Given the description of an element on the screen output the (x, y) to click on. 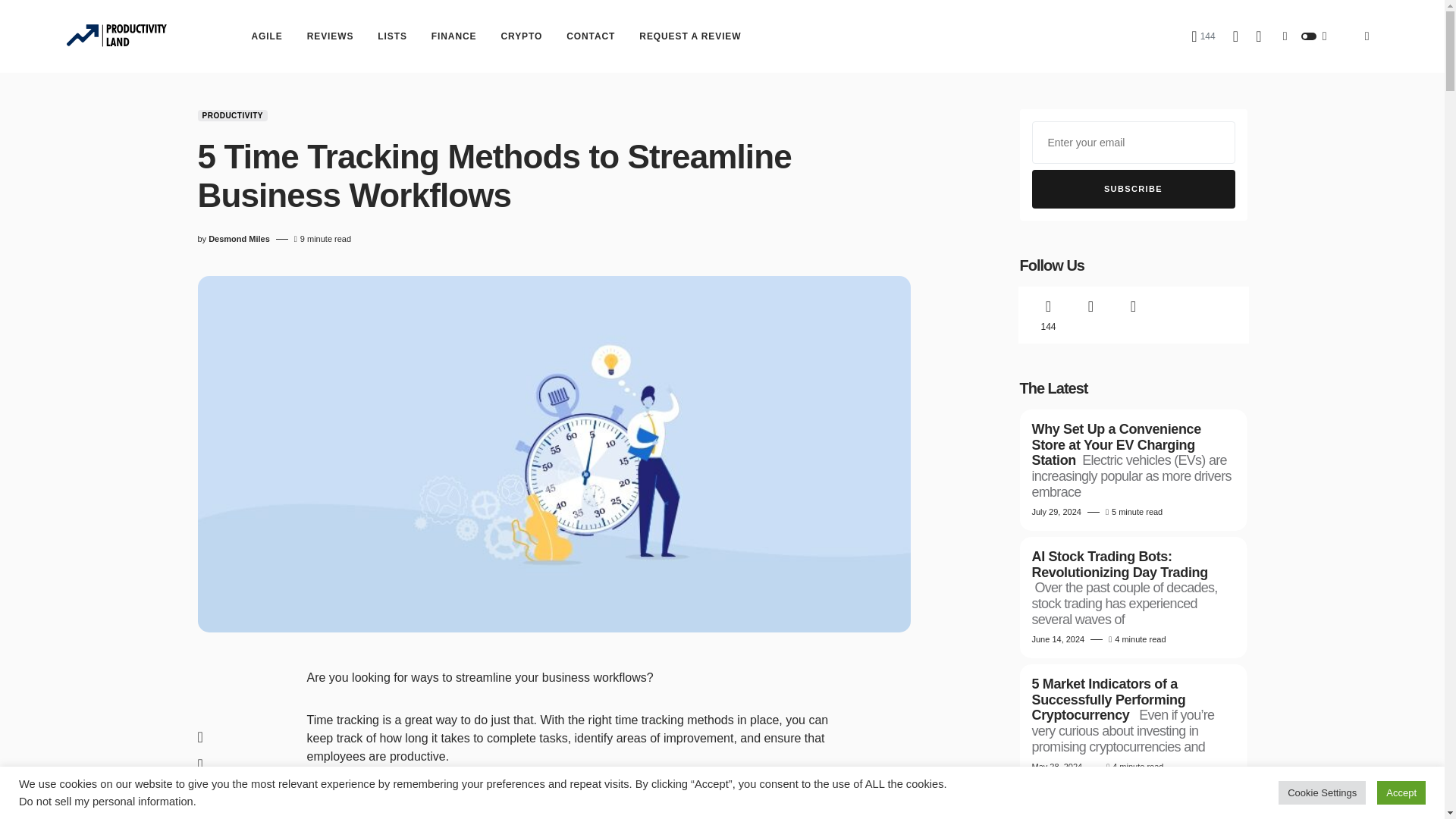
View all posts by Desmond Miles (238, 238)
REQUEST A REVIEW (690, 36)
144 (1202, 36)
